Given the description of an element on the screen output the (x, y) to click on. 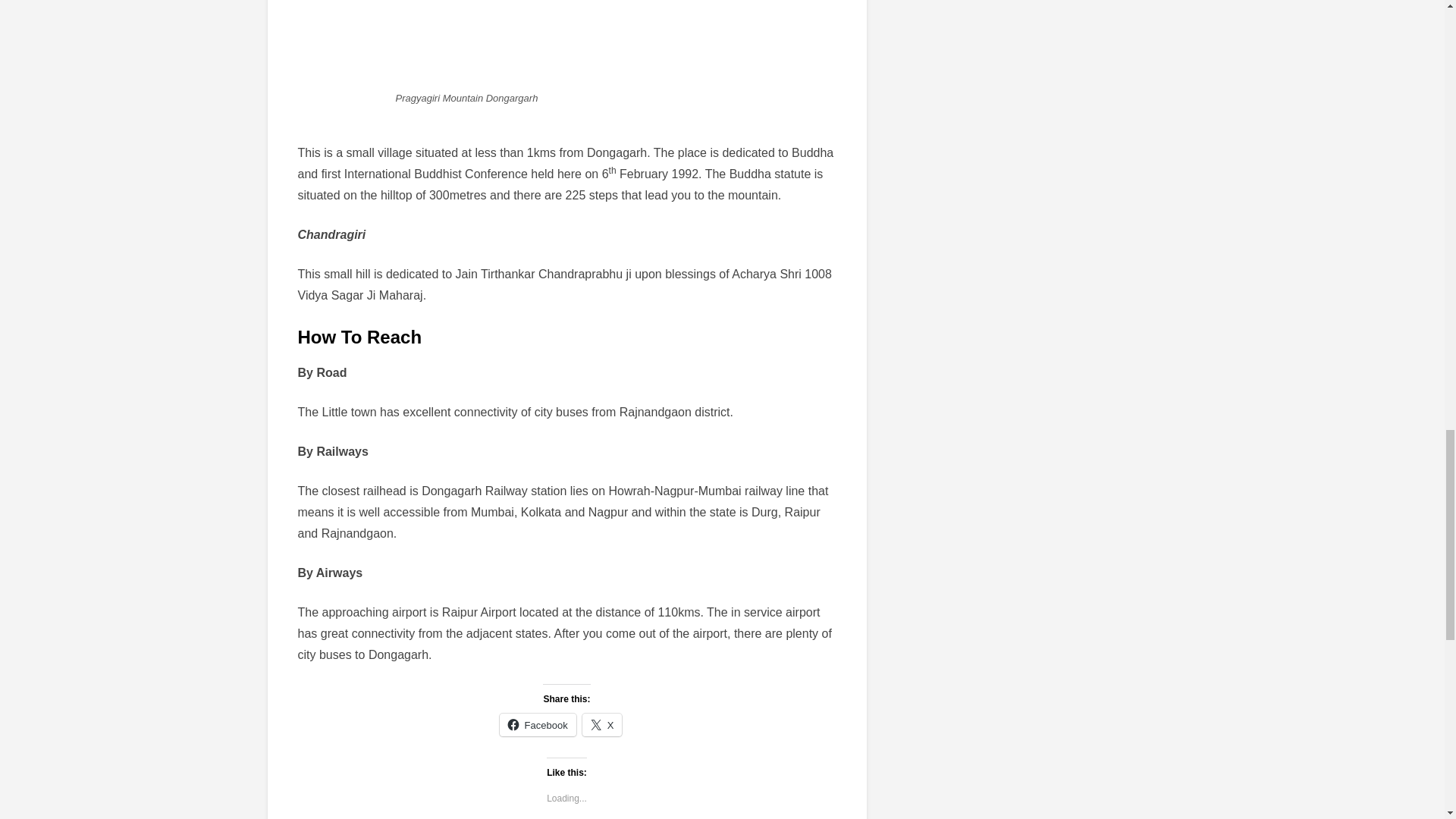
Click to share on X (602, 724)
Facebook (537, 724)
X (602, 724)
Click to share on Facebook (537, 724)
